Given the description of an element on the screen output the (x, y) to click on. 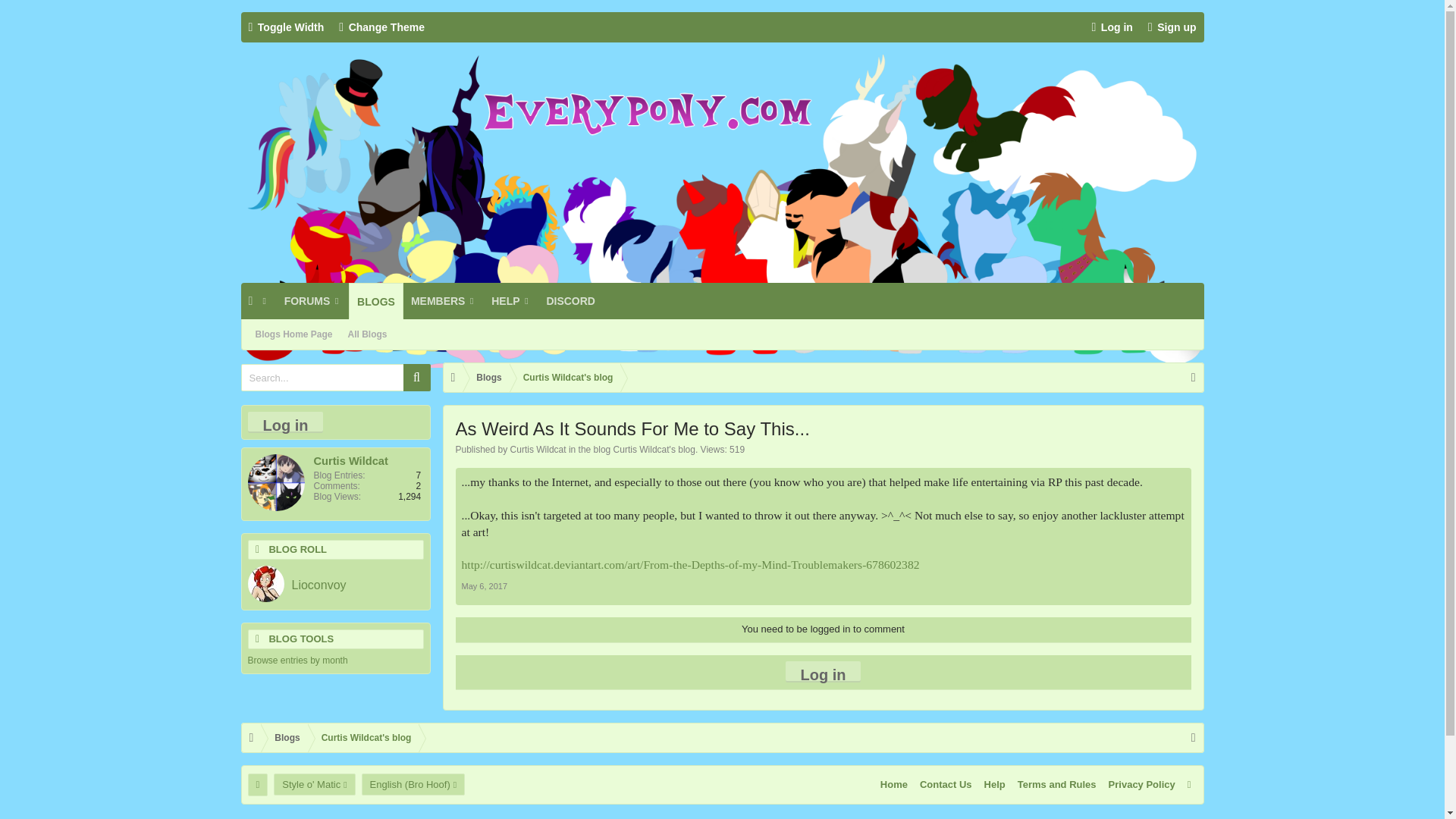
Toggle Width (286, 27)
Open quick navigation (1193, 377)
FORUMS (312, 300)
Log in (1112, 27)
Enter your search and hit enter (335, 377)
BLOGS (376, 300)
Open quick navigation (1193, 737)
Sign up (1172, 27)
Home (451, 377)
Home (250, 300)
Change Theme (381, 27)
May 6, 2017 at 2:48 AM (483, 585)
Home (250, 737)
